Given the description of an element on the screen output the (x, y) to click on. 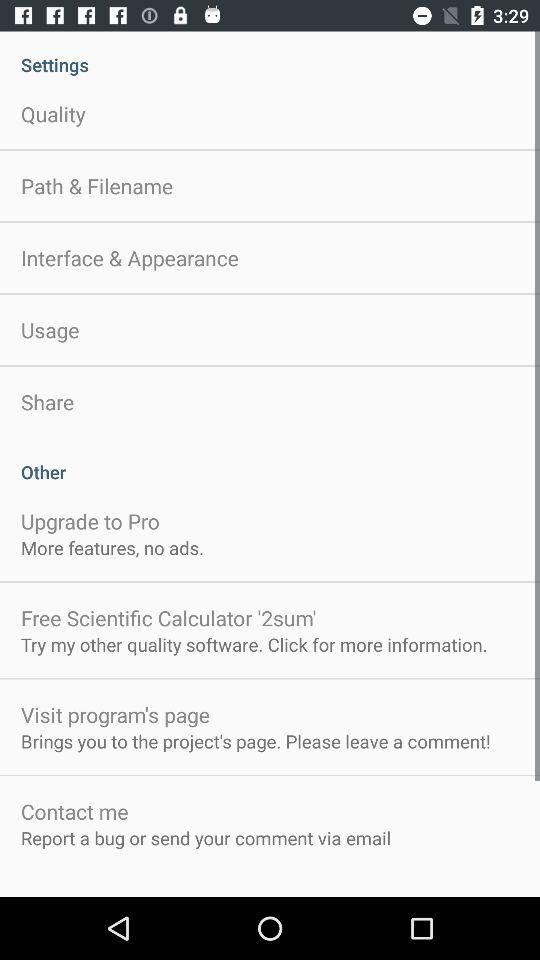
choose app below the quality item (97, 185)
